Given the description of an element on the screen output the (x, y) to click on. 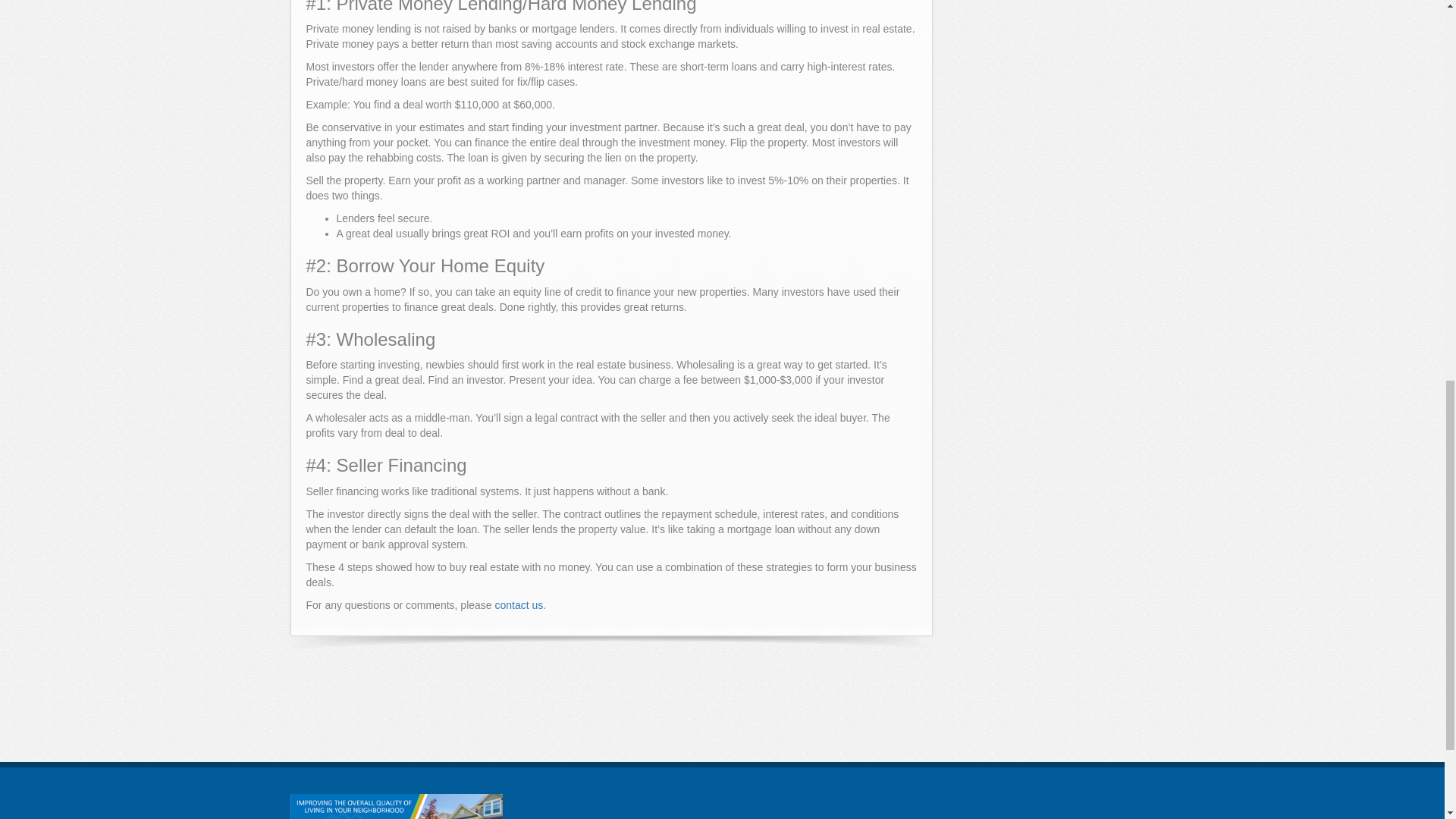
contact us (519, 604)
